Given the description of an element on the screen output the (x, y) to click on. 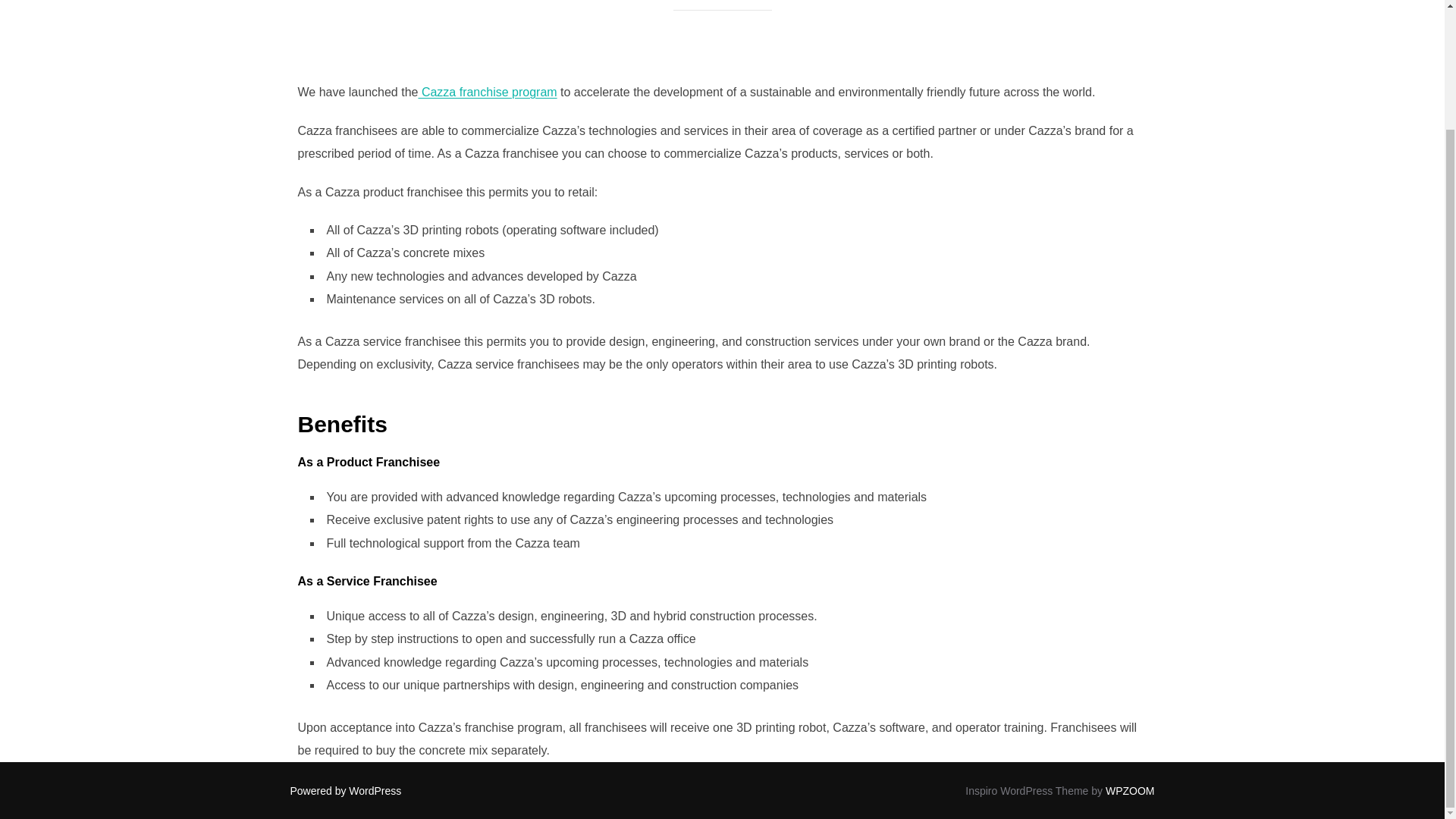
Powered by WordPress (345, 790)
WPZOOM (1129, 790)
Cazza franchise program (486, 91)
